Given the description of an element on the screen output the (x, y) to click on. 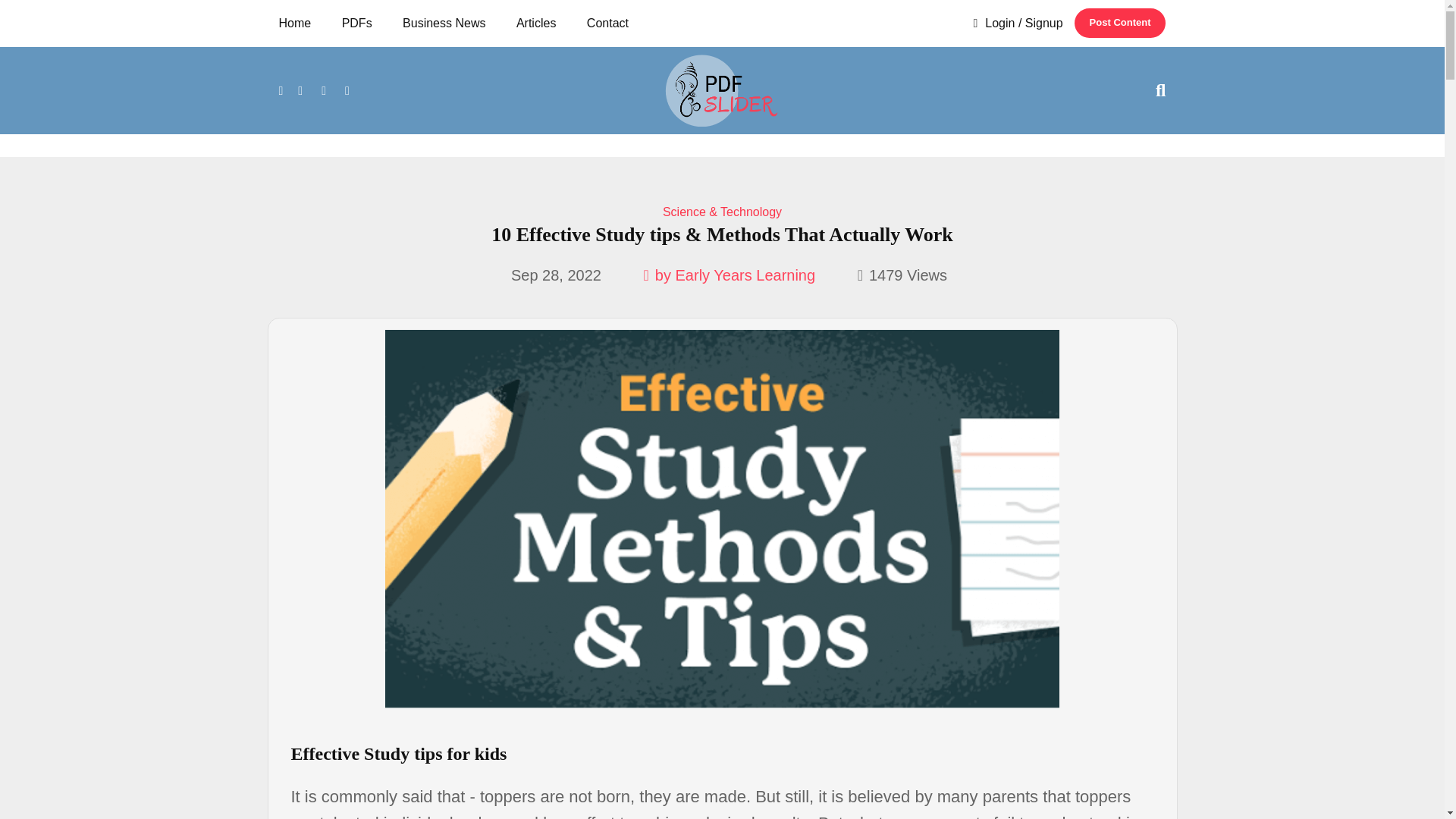
Articles (536, 23)
Home (300, 23)
PDFs (356, 23)
Contact (607, 23)
twitter (299, 90)
Business News (444, 23)
by Early Years Learning (729, 274)
pinterest (323, 90)
tumblr (346, 90)
Post Content (1120, 22)
